Given the description of an element on the screen output the (x, y) to click on. 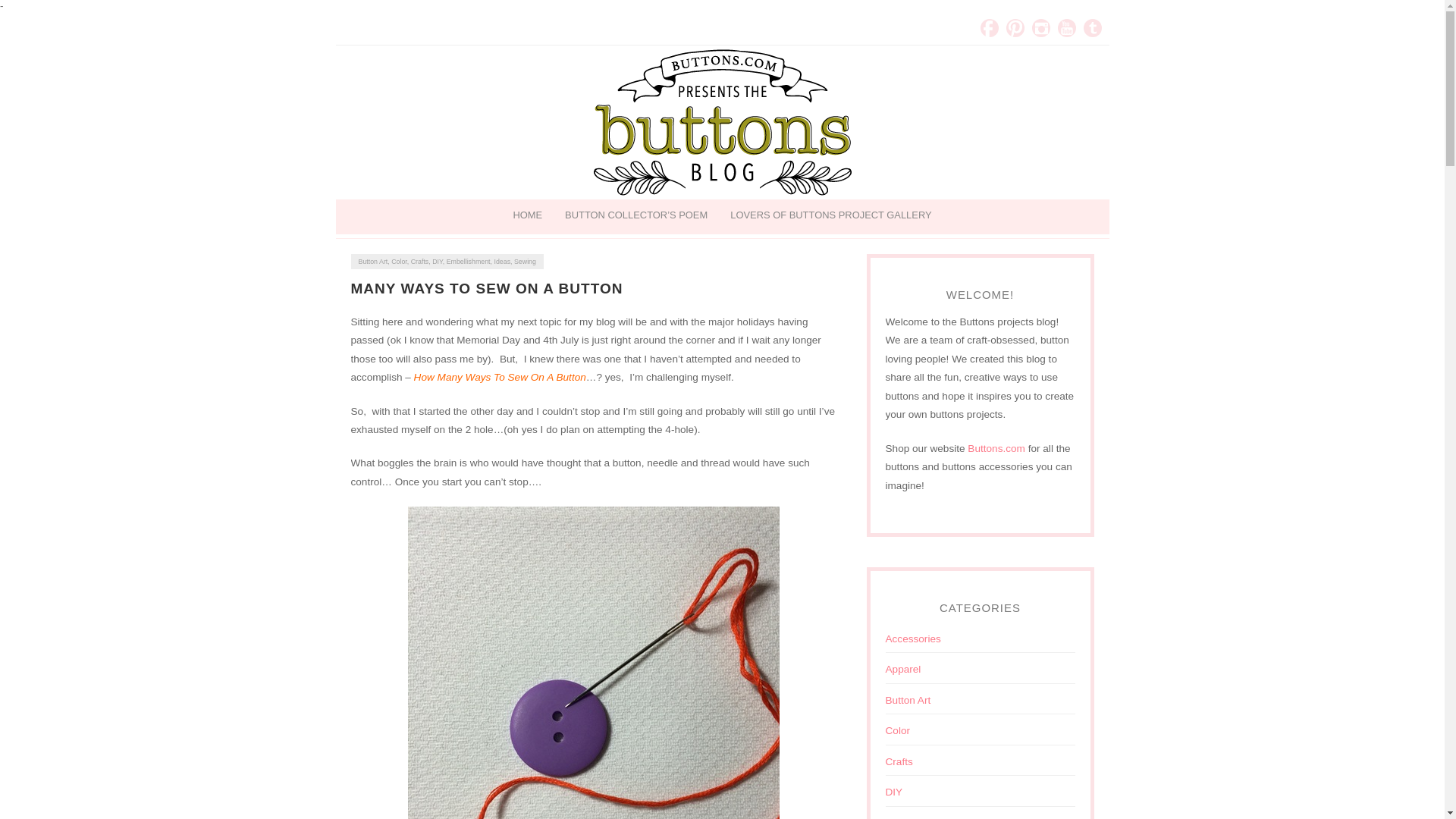
Crafts (419, 261)
DIY (437, 261)
LOVERS OF BUTTONS PROJECT GALLERY (830, 215)
HOME (526, 215)
Tumblr (1091, 27)
Embellishment (919, 818)
Sewing (524, 261)
YouTube (1066, 27)
Ideas (502, 261)
Buttons.com (996, 448)
